Given the description of an element on the screen output the (x, y) to click on. 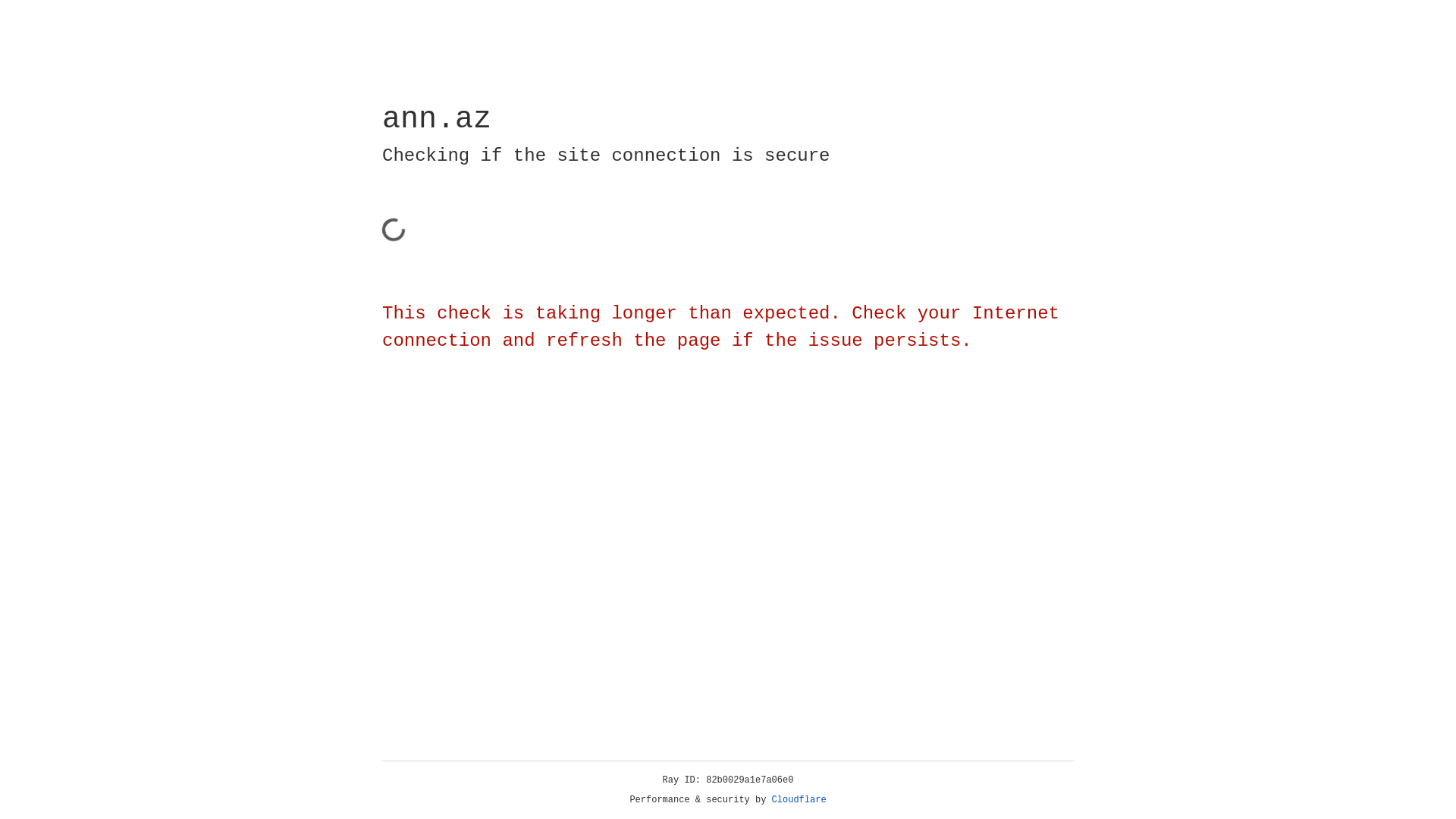
Cloudflare Element type: text (798, 799)
